Given the description of an element on the screen output the (x, y) to click on. 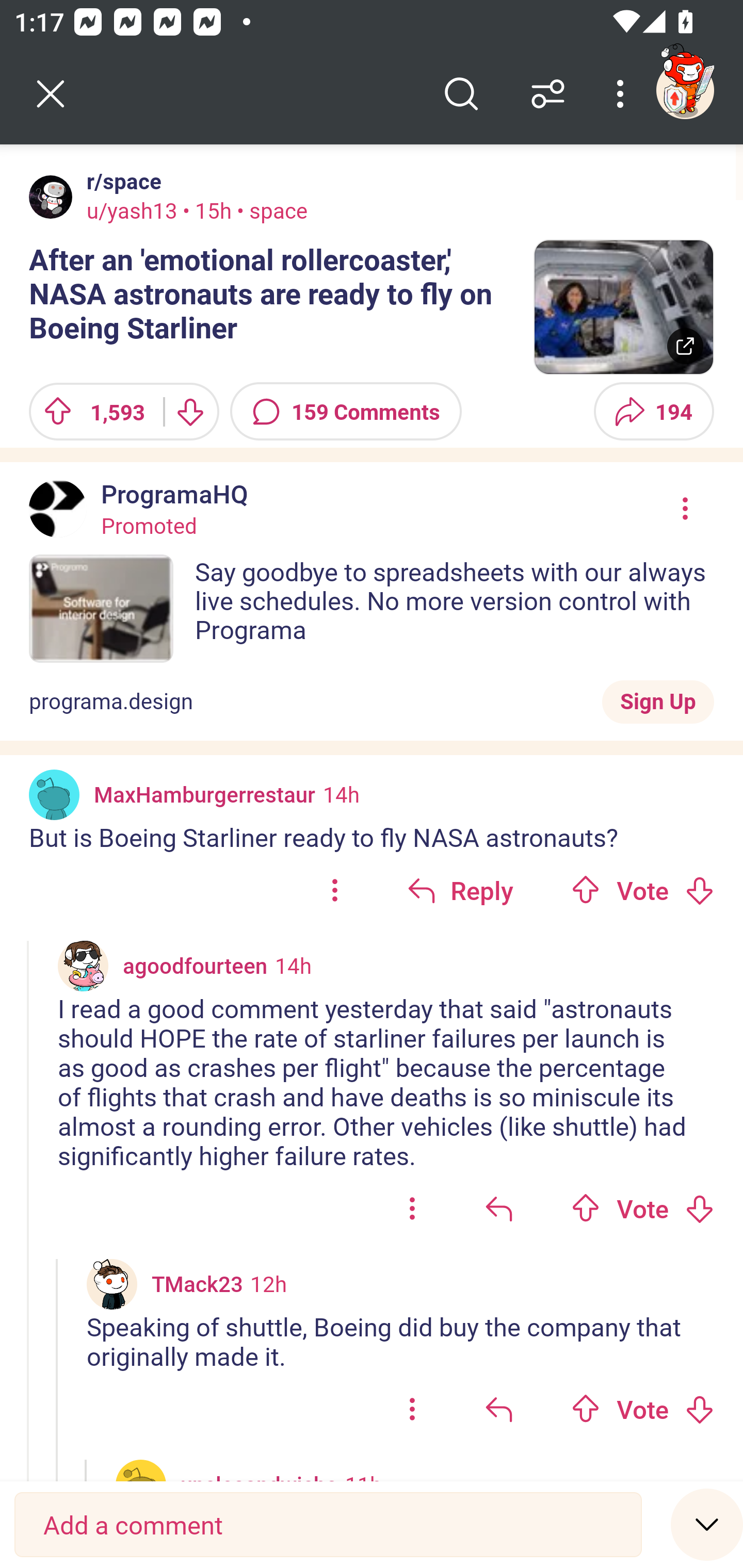
Back (50, 93)
TestAppium002 account (685, 90)
Search comments (460, 93)
Sort comments (547, 93)
More options (623, 93)
r/space (120, 181)
Avatar (50, 196)
u/yash13 (131, 210)
 • space (269, 210)
Thumbnail image (623, 306)
Upvote 1,593 (88, 411)
Downvote (189, 411)
159 Comments (346, 411)
Share 194 (653, 411)
Avatar (53, 794)
14h (341, 794)
options (334, 890)
Reply (460, 890)
Upvote Vote Downvote (642, 890)
Upvote (585, 890)
Downvote (699, 890)
Custom avatar (82, 965)
14h (292, 965)
options (412, 1208)
Upvote Vote Downvote (642, 1208)
Upvote (585, 1208)
Downvote (699, 1208)
Custom avatar (111, 1284)
12h (268, 1283)
options (412, 1409)
Upvote Vote Downvote (642, 1409)
Upvote (585, 1408)
Downvote (699, 1408)
Speed read (706, 1524)
Add a comment (327, 1524)
